Given the description of an element on the screen output the (x, y) to click on. 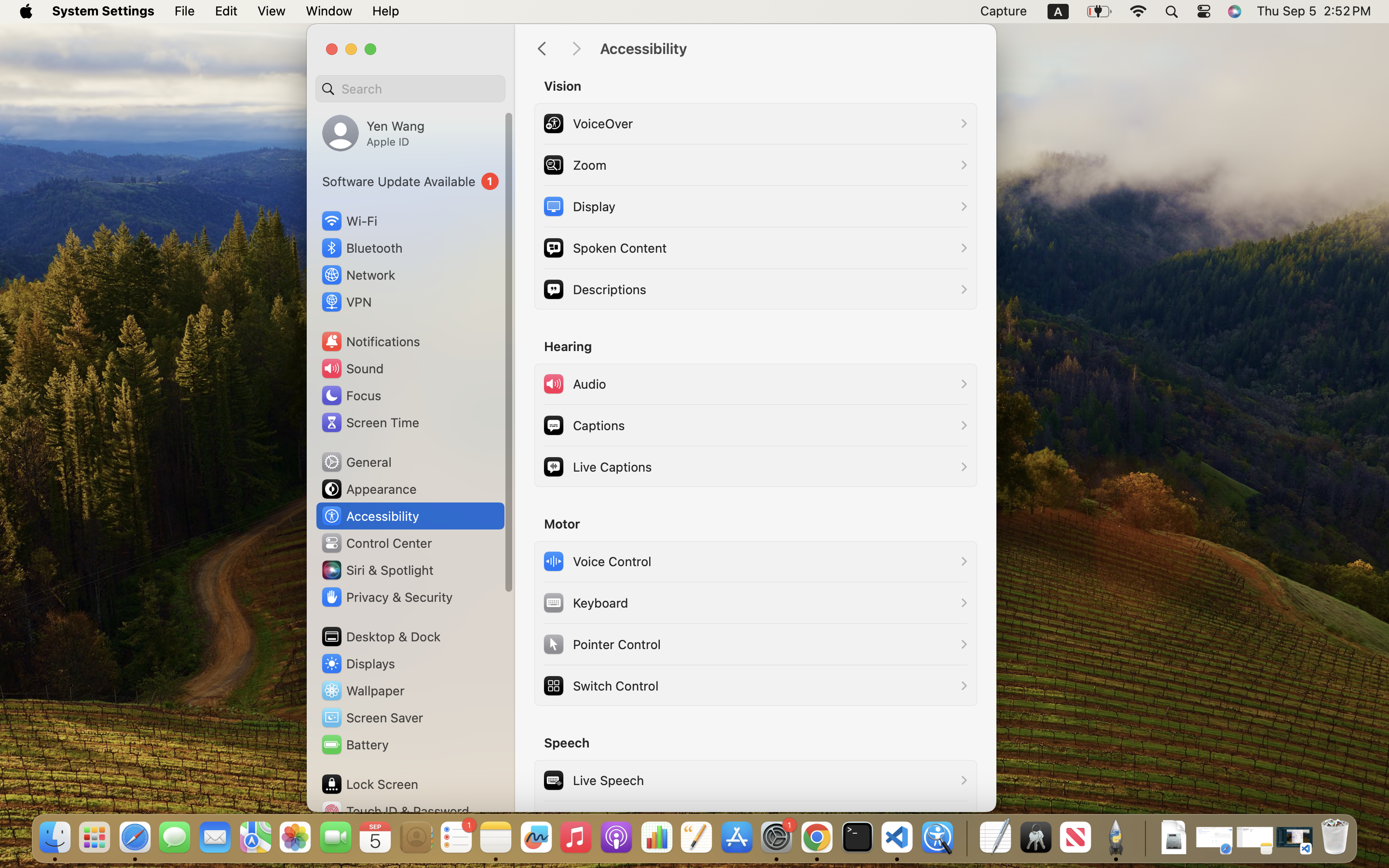
Notifications Element type: AXStaticText (370, 340)
Battery Element type: AXStaticText (354, 744)
Focus Element type: AXStaticText (350, 394)
Lock Screen Element type: AXStaticText (369, 783)
